Given the description of an element on the screen output the (x, y) to click on. 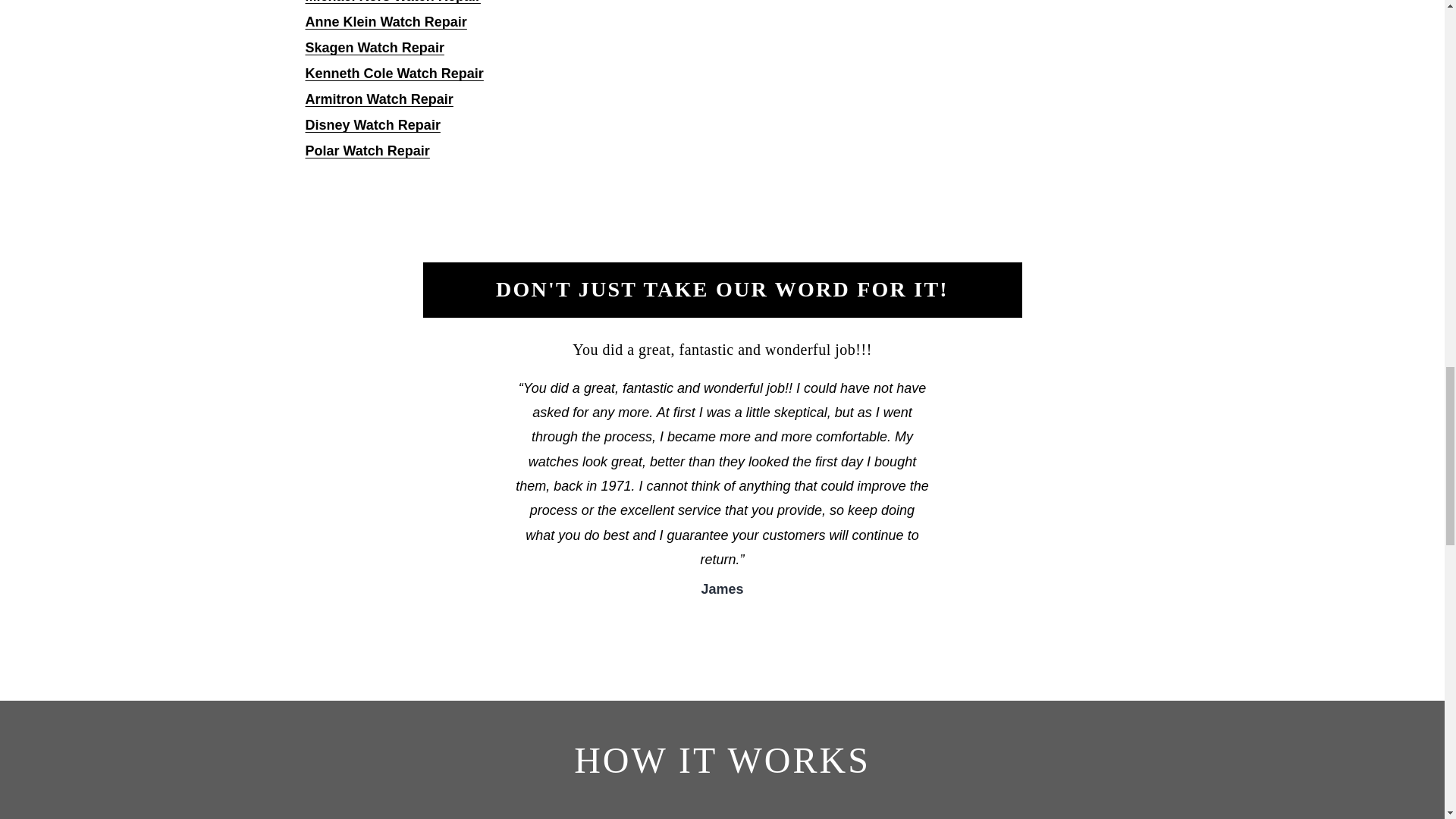
Skagen Watch Repair (374, 47)
Disney Watch Repair (371, 124)
Kenneth Cole Watch Repair (393, 73)
Anne Klein Watch Repair (384, 21)
Polar Watch Repair (366, 150)
Michael Kors Watch Repair (392, 2)
Armitron Watch Repair (378, 99)
